Given the description of an element on the screen output the (x, y) to click on. 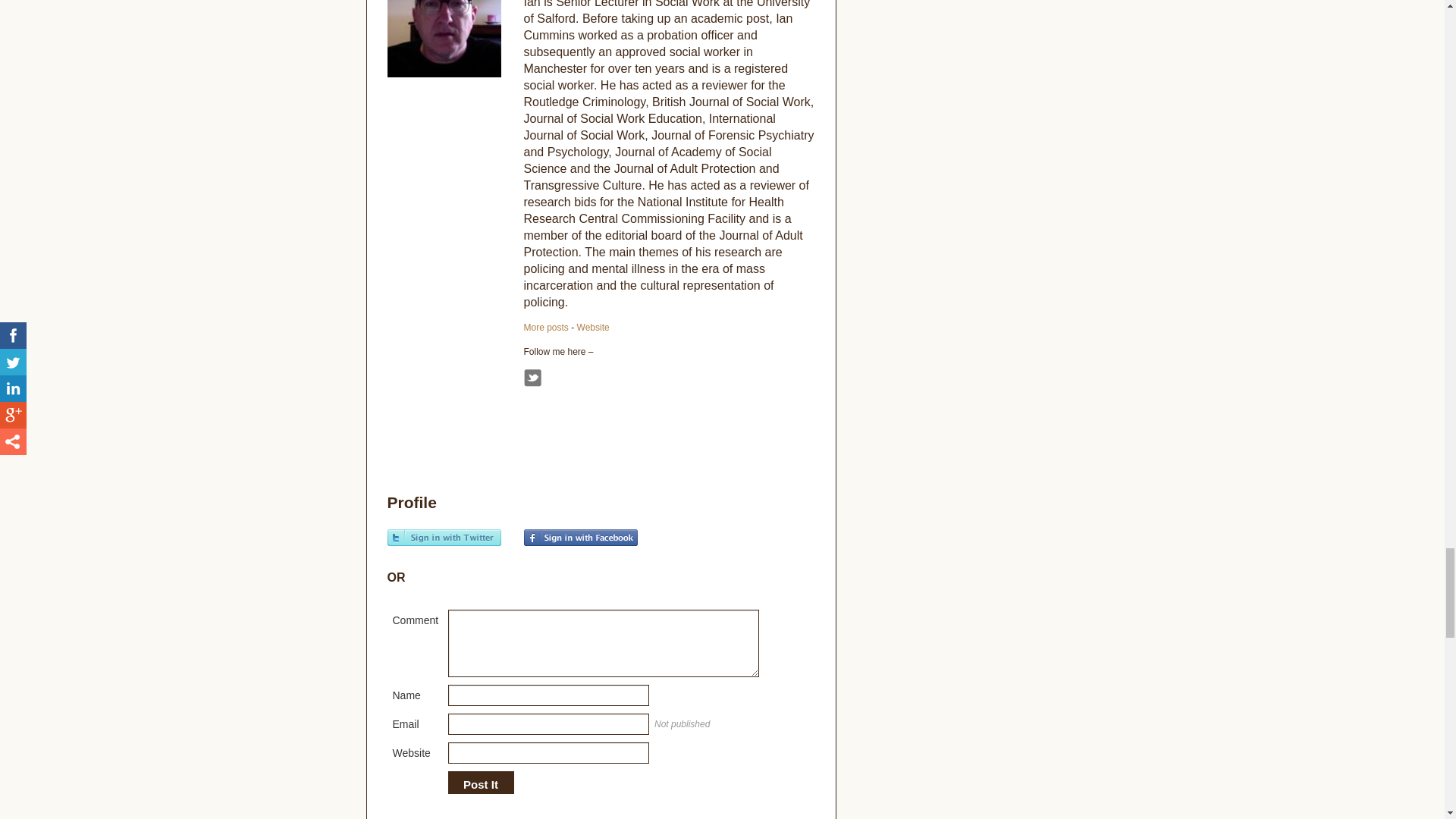
Twitter (531, 377)
Post It (479, 784)
Ian Cummins (544, 327)
